Given the description of an element on the screen output the (x, y) to click on. 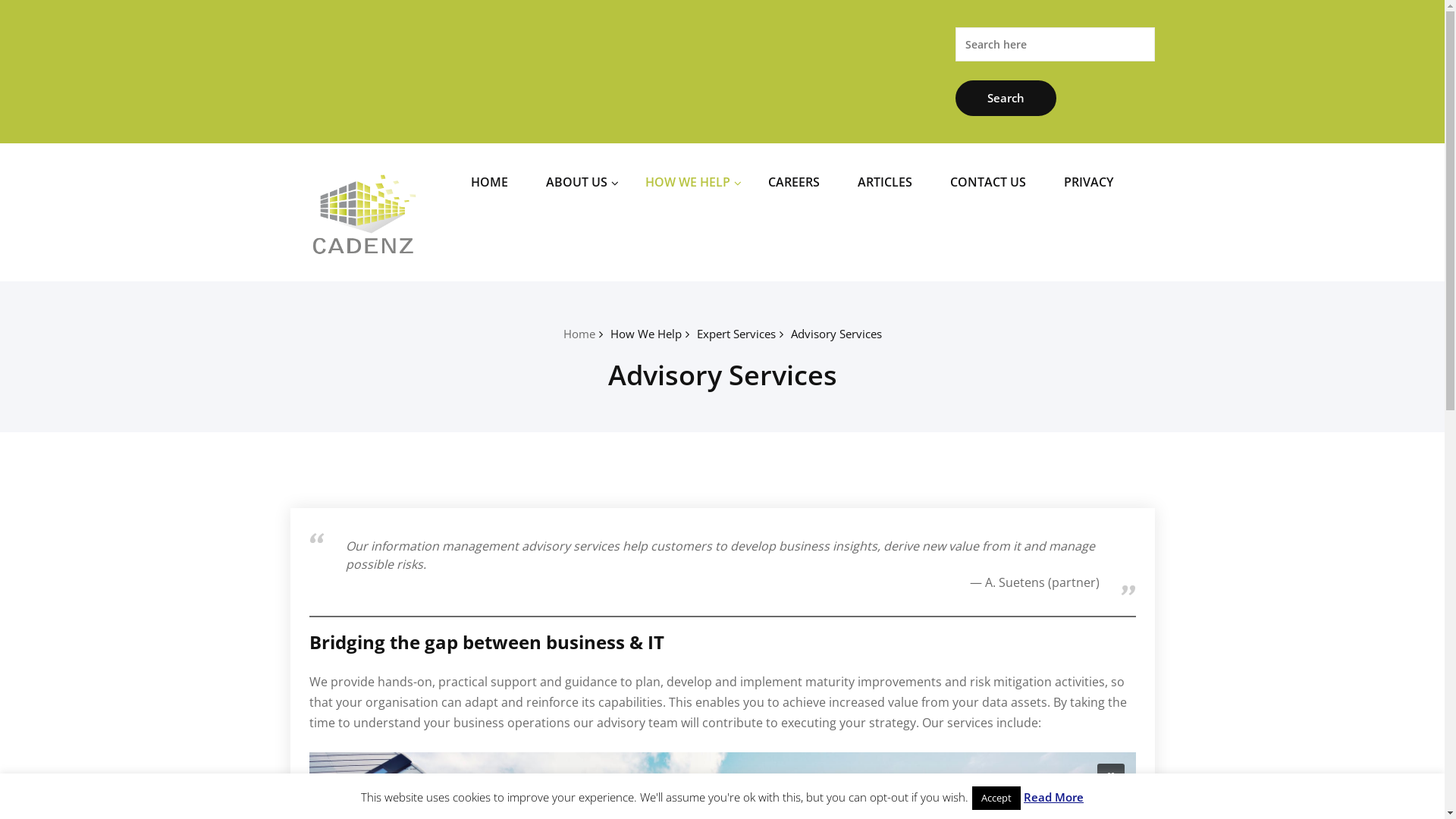
Read More Element type: text (1053, 796)
HOW WE HELP Element type: text (687, 181)
ARTICLES Element type: text (884, 181)
Expert Services Element type: text (735, 333)
How We Help Element type: text (644, 333)
Advisory Services Element type: text (835, 333)
Home Element type: text (578, 333)
ABOUT US Element type: text (575, 181)
CAREERS Element type: text (793, 181)
HOME Element type: text (489, 181)
PRIVACY Element type: text (1088, 181)
Accept Element type: text (996, 797)
CONTACT US Element type: text (987, 181)
Search Element type: text (1005, 98)
